Given the description of an element on the screen output the (x, y) to click on. 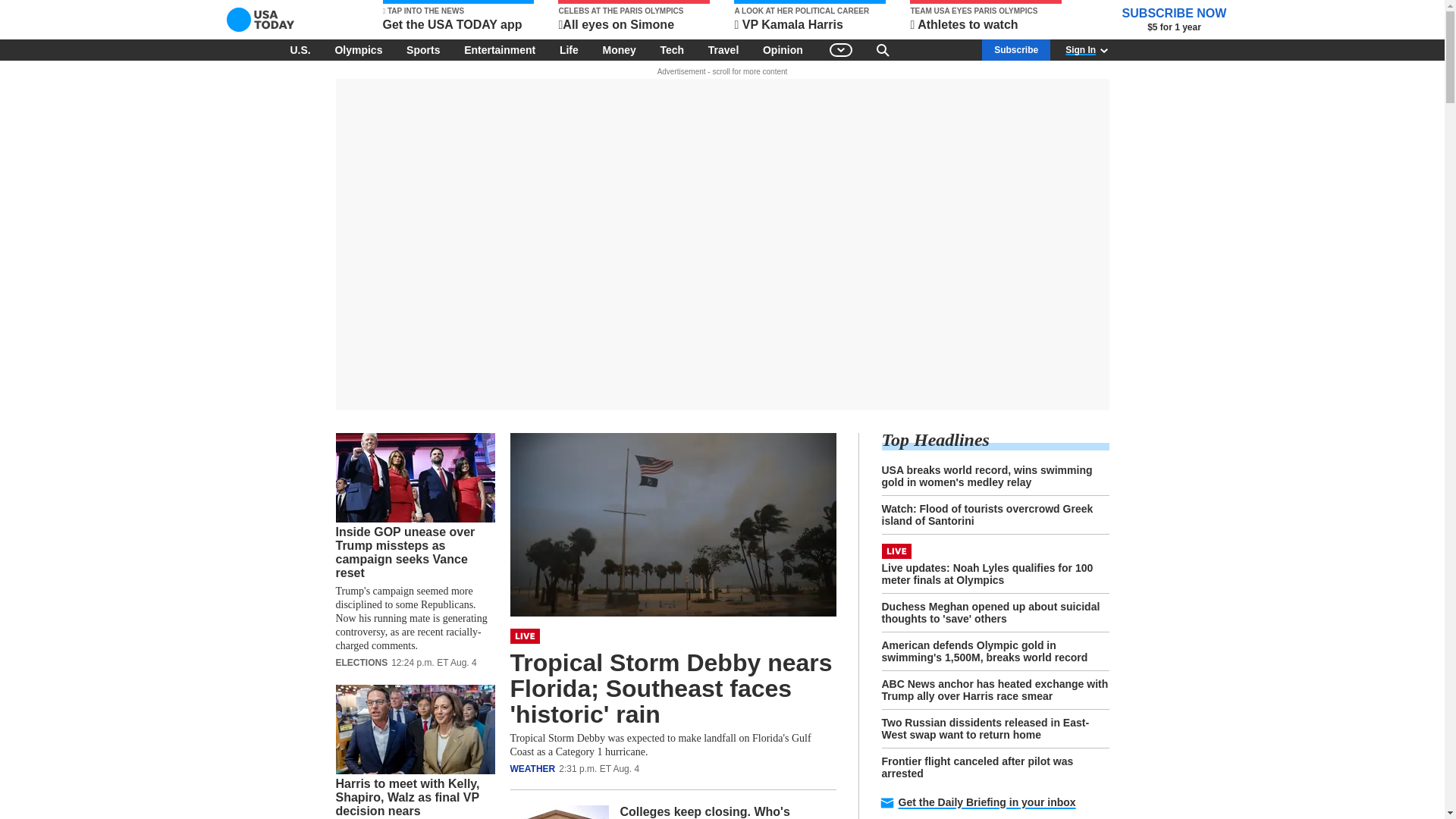
Opinion (782, 49)
Life (568, 49)
Get the USA TODAY app (457, 17)
Search (882, 49)
Tech (671, 49)
U.S. (299, 49)
Olympics (358, 49)
Sports (422, 49)
Money (618, 49)
Travel (722, 49)
Entertainment (500, 49)
